Given the description of an element on the screen output the (x, y) to click on. 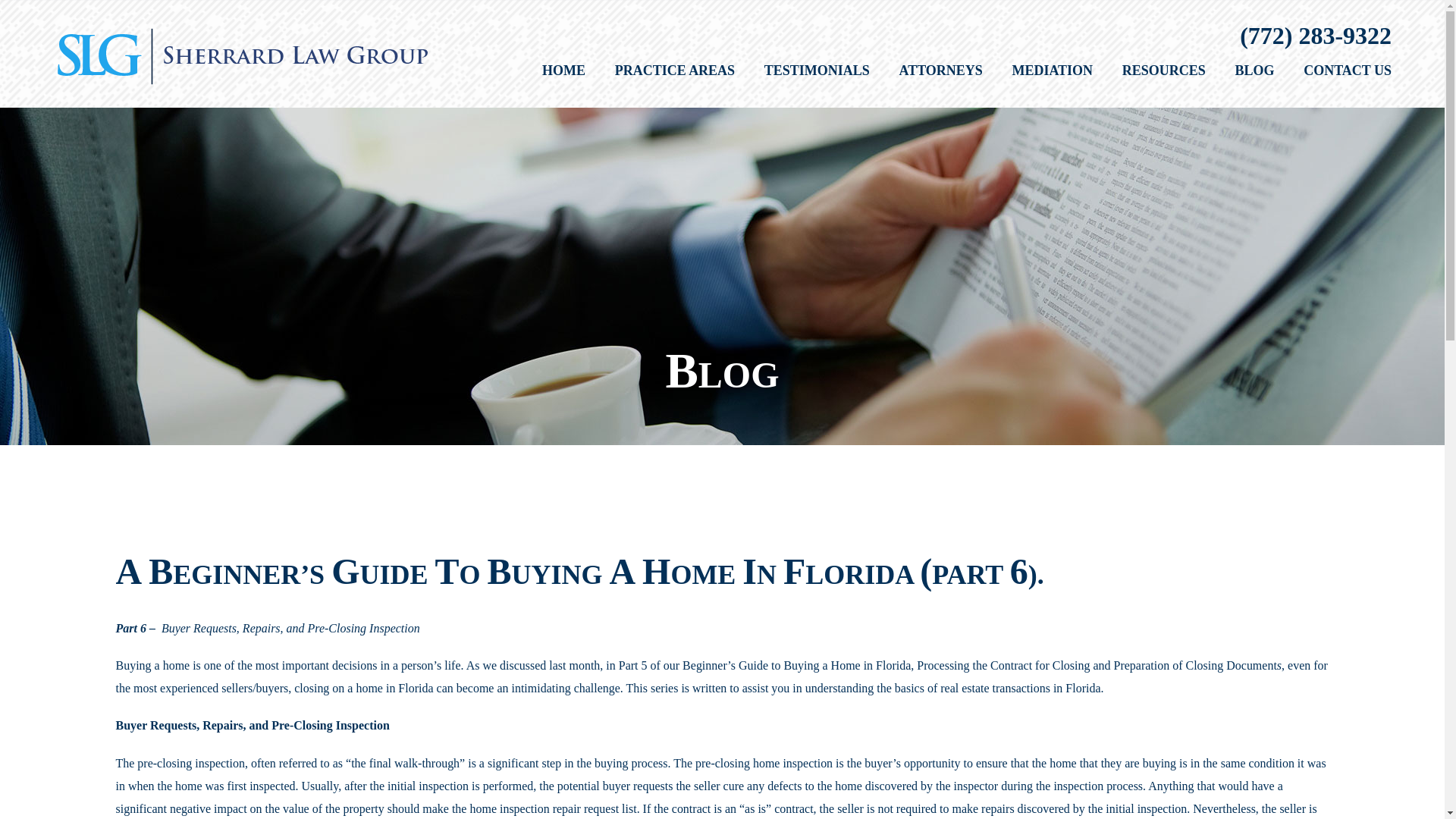
CONTACT US (1347, 71)
MEDIATION (1052, 71)
BLOG (1254, 71)
RESOURCES (1163, 71)
PRACTICE AREAS (674, 71)
HOME (563, 71)
ATTORNEYS (940, 71)
TESTIMONIALS (816, 71)
